Given the description of an element on the screen output the (x, y) to click on. 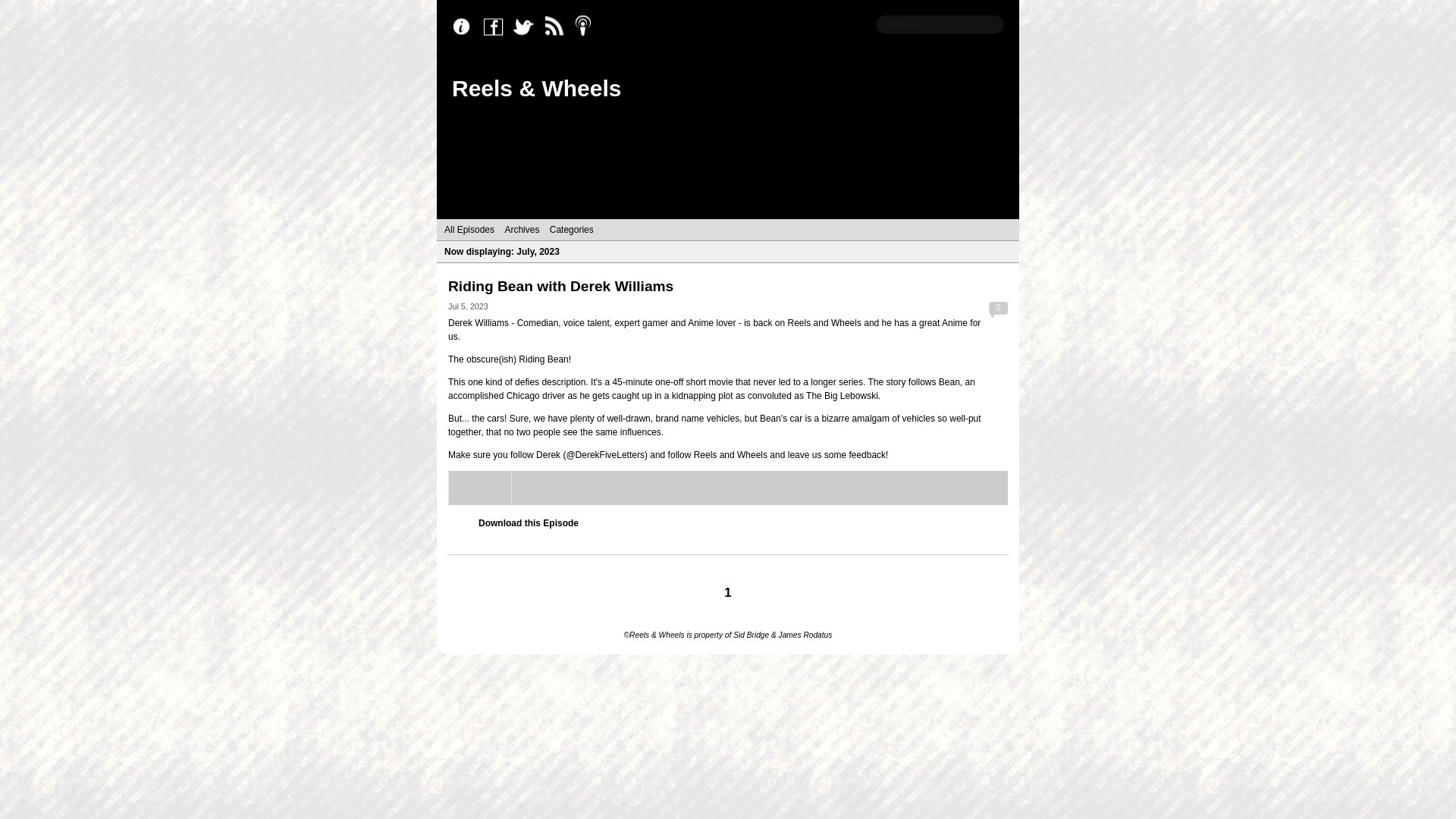
Facebook (496, 26)
Twitter (527, 26)
Subscribe in Apple Podcasts (588, 26)
RSS Feed (558, 26)
Libsyn Player (727, 487)
